Given the description of an element on the screen output the (x, y) to click on. 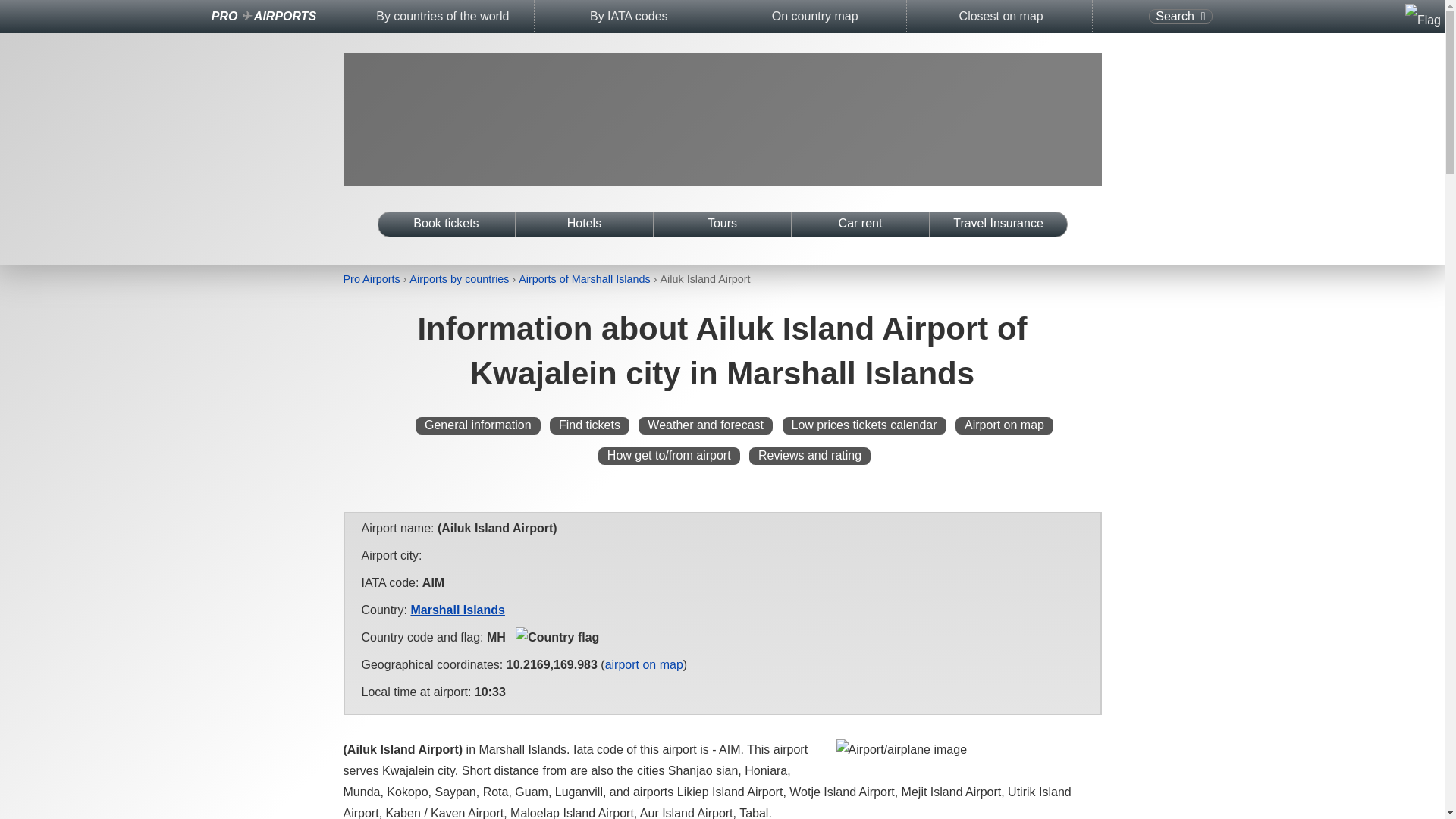
Weather and forecast (706, 425)
Airports on map of choosed country (814, 16)
Book tickets (445, 224)
Hotels (583, 224)
List of airport and airport on map close to your position (1001, 16)
Car rent (860, 224)
Find tickets (589, 425)
Travel Insurance (997, 224)
By IATA codes (628, 16)
List of airports by IATA codes (628, 16)
